Given the description of an element on the screen output the (x, y) to click on. 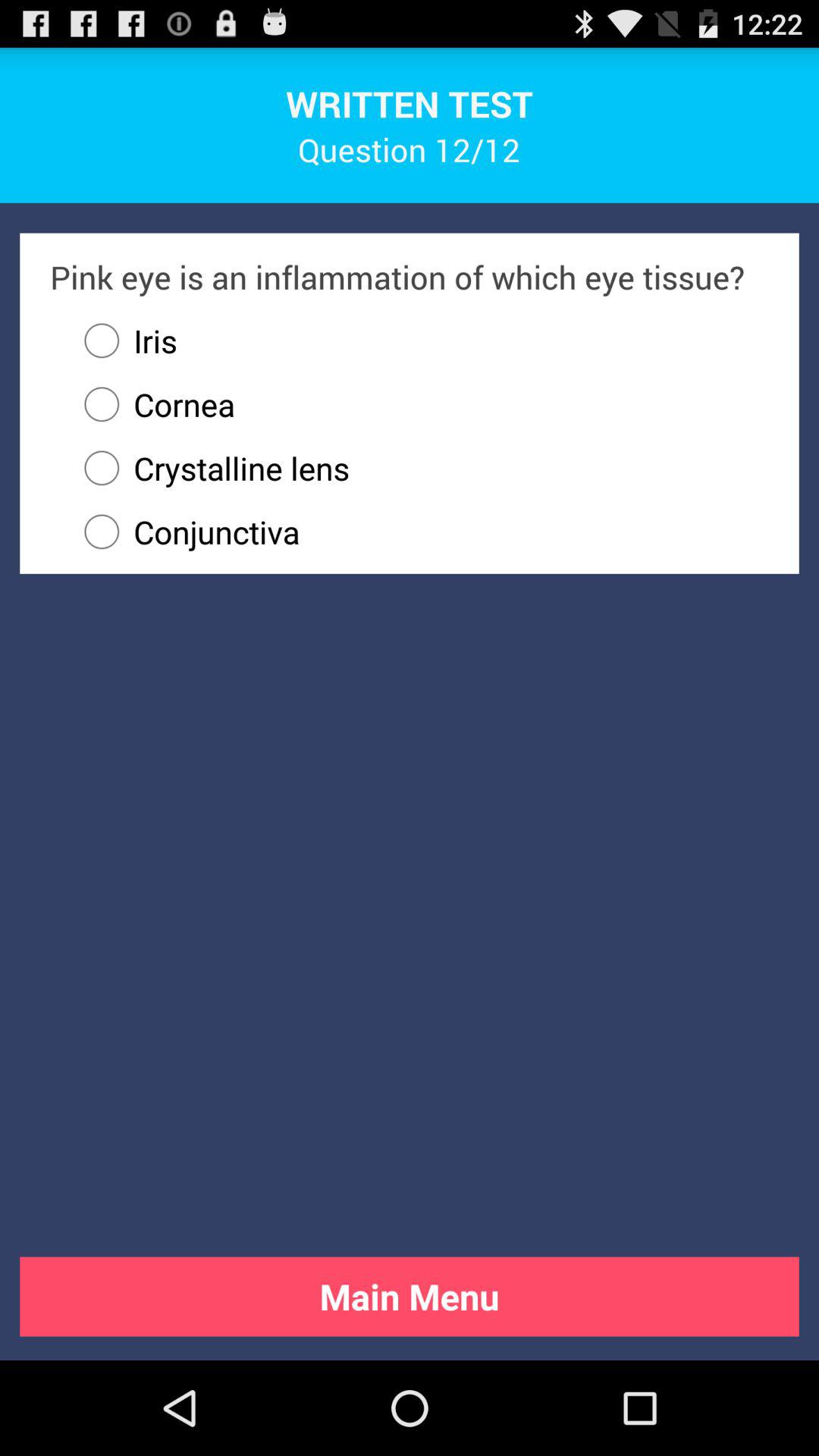
launch the radio button at the center (418, 531)
